Given the description of an element on the screen output the (x, y) to click on. 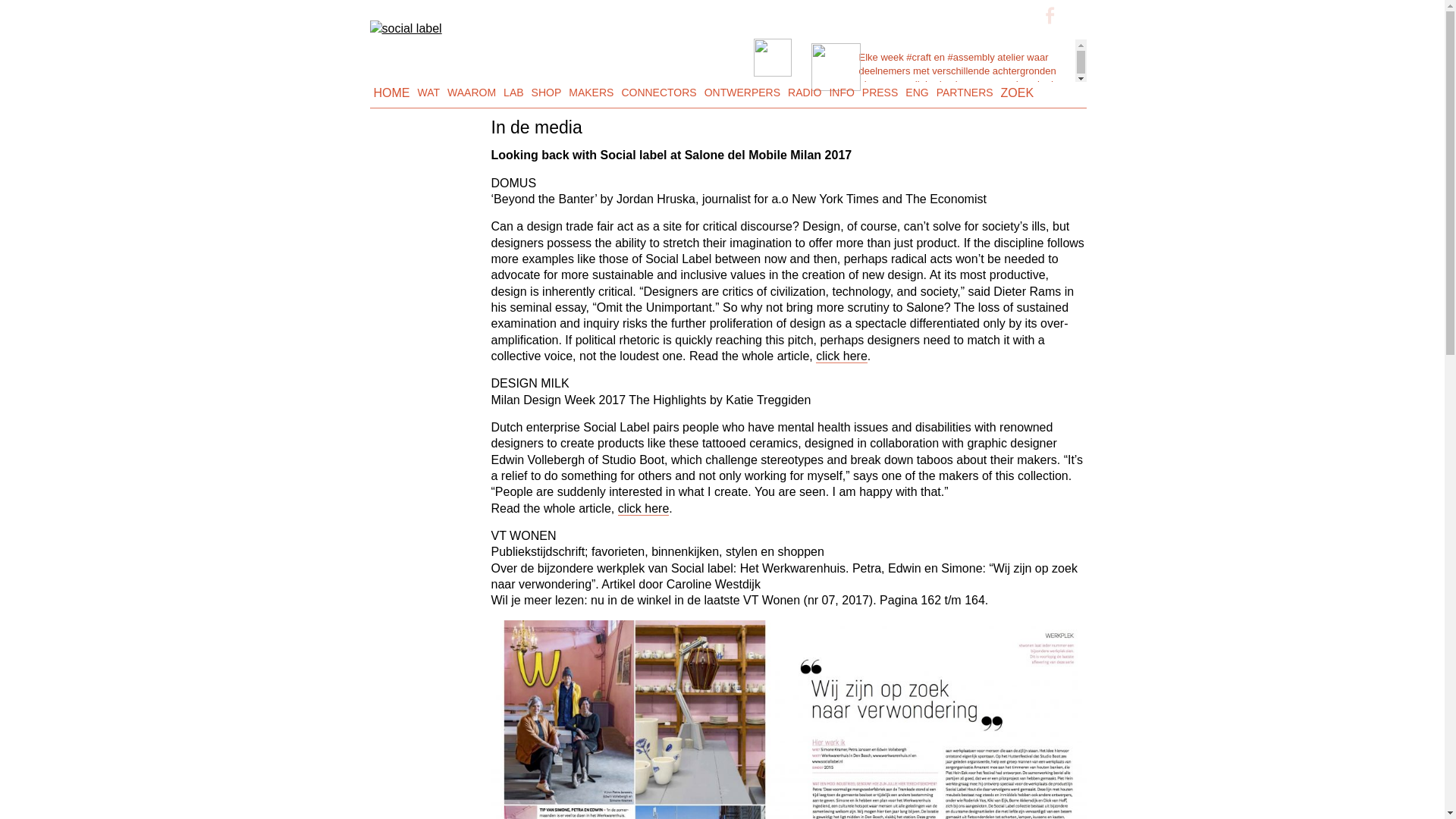
PARTNERS (965, 92)
ZOEK (1017, 92)
LAB (513, 92)
INFO (841, 92)
youtube (1071, 14)
CONNECTORS (658, 92)
instagram (1026, 15)
PRESS (880, 92)
ENG (916, 92)
HOME (391, 92)
WAT (428, 92)
MAKERS (590, 92)
SHOP (546, 92)
WAAROM (471, 92)
RADIO (804, 92)
